Given the description of an element on the screen output the (x, y) to click on. 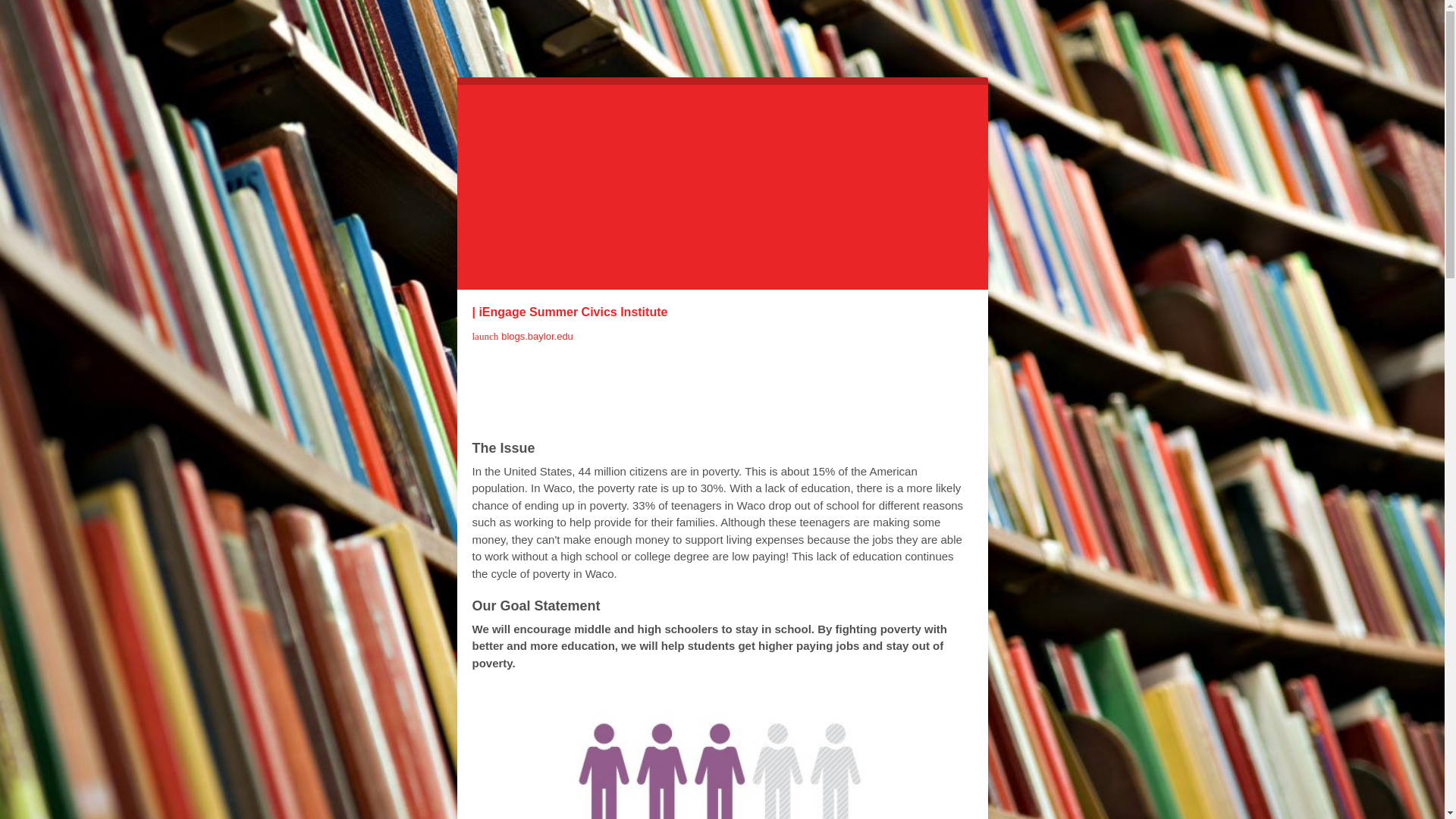
up (678, 409)
you (509, 386)
the (733, 409)
pool. (856, 409)
won't (588, 409)
your (699, 386)
and (905, 386)
job (741, 386)
end (640, 409)
in (587, 386)
